Given the description of an element on the screen output the (x, y) to click on. 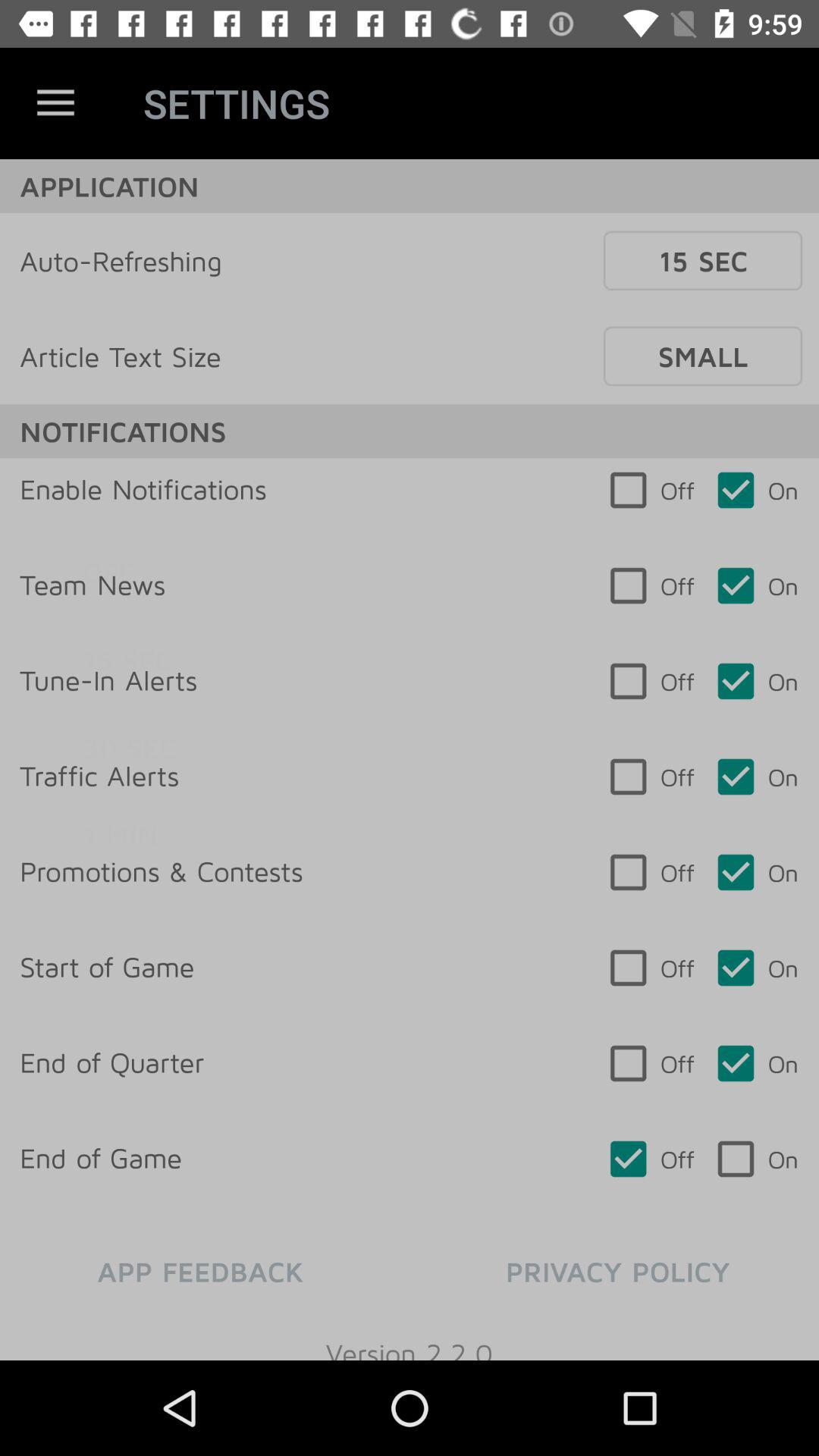
choose the item below app feedback item (409, 1338)
